Given the description of an element on the screen output the (x, y) to click on. 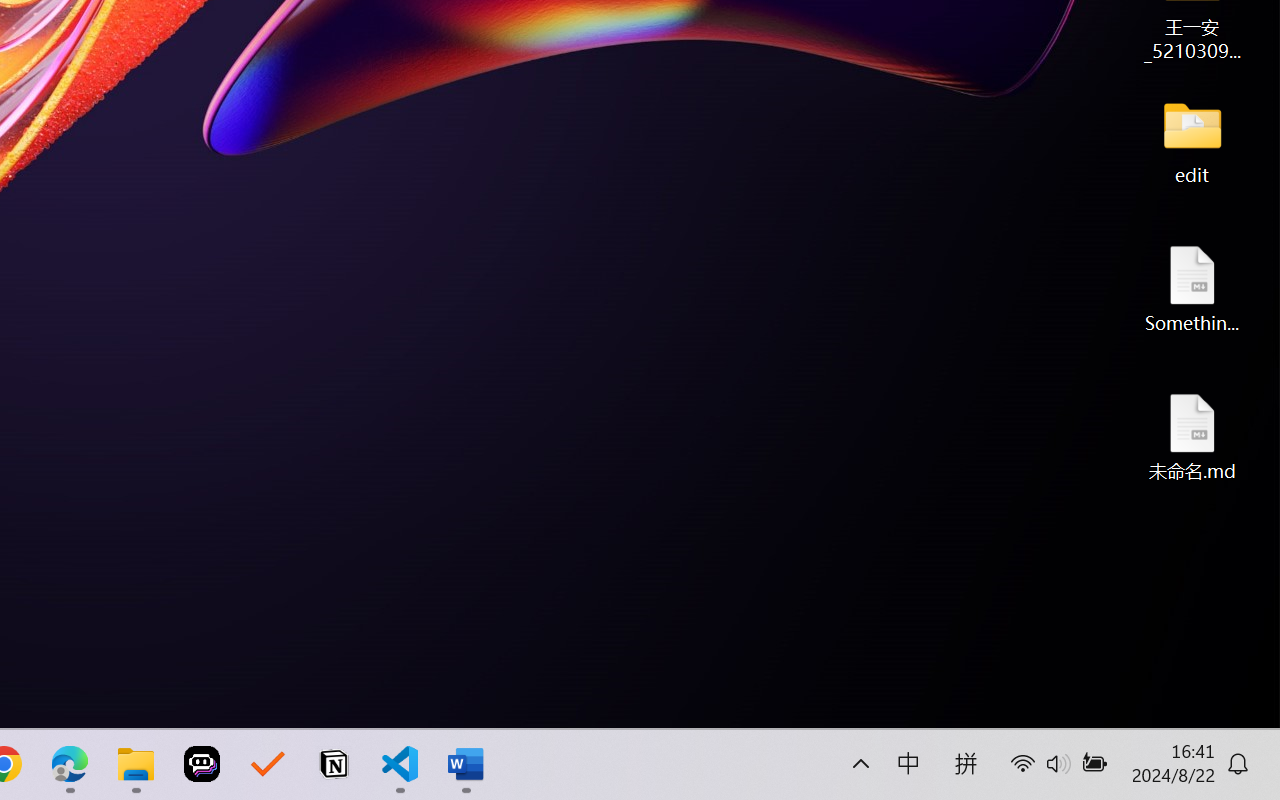
edit (1192, 140)
